Given the description of an element on the screen output the (x, y) to click on. 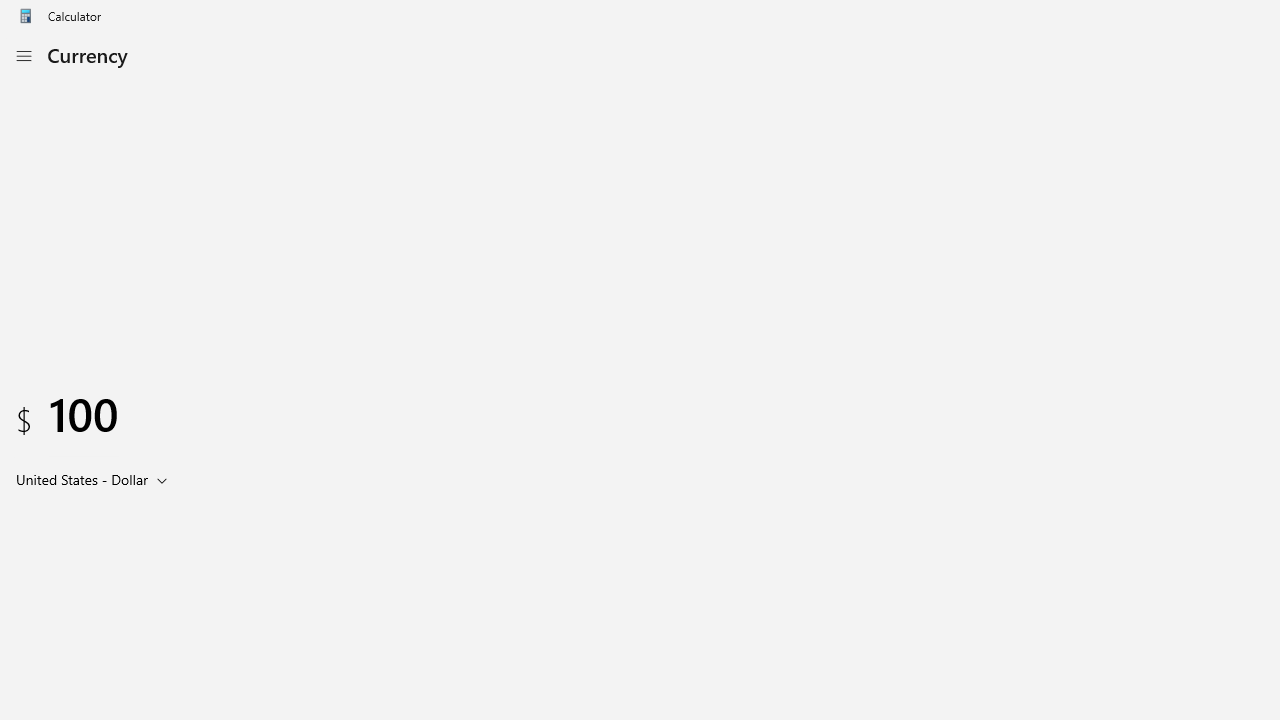
Open Navigation (23, 56)
United States Dollar (79, 479)
Input unit (95, 479)
